Given the description of an element on the screen output the (x, y) to click on. 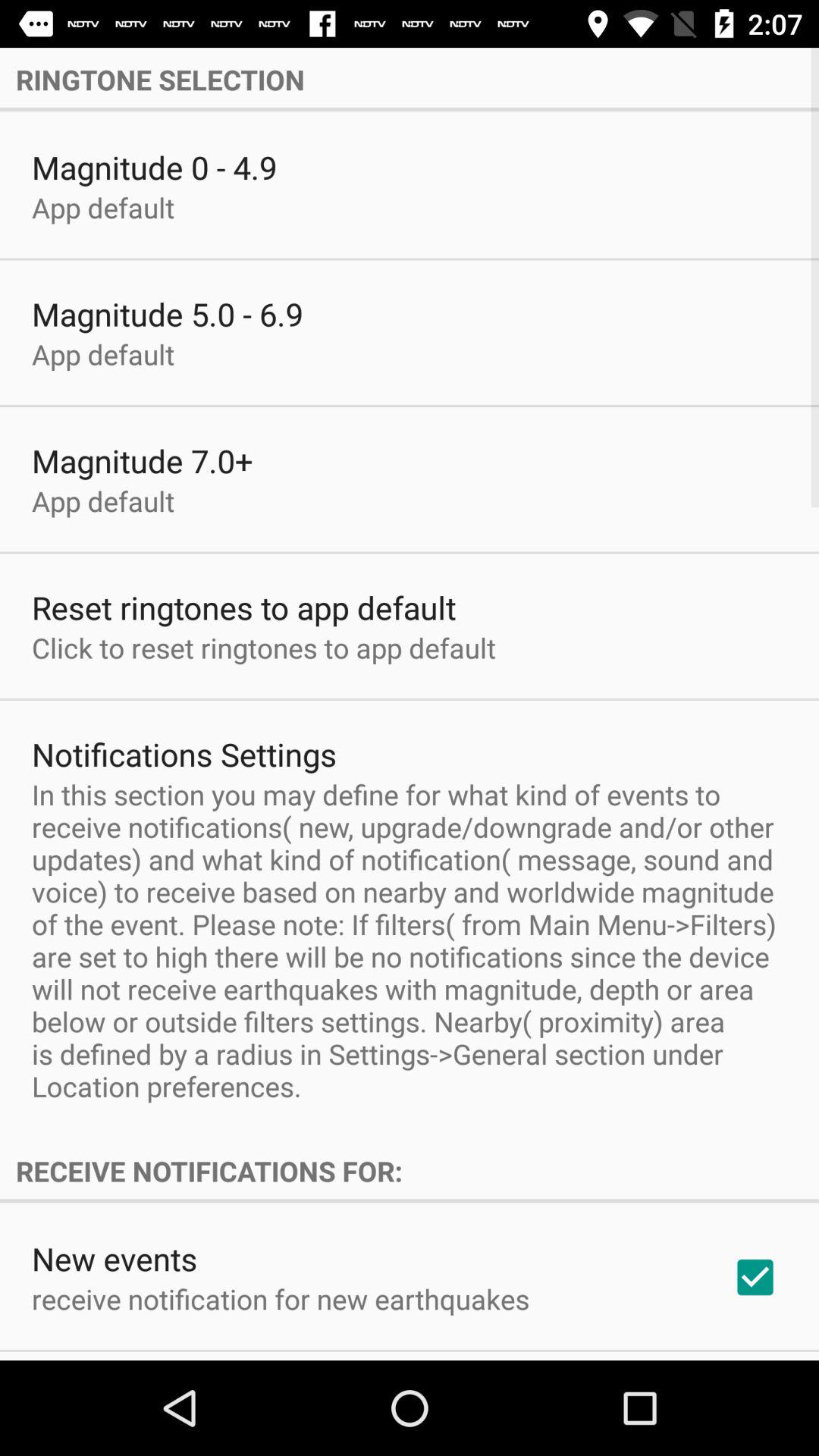
tap icon to the right of the receive notification for (755, 1277)
